Given the description of an element on the screen output the (x, y) to click on. 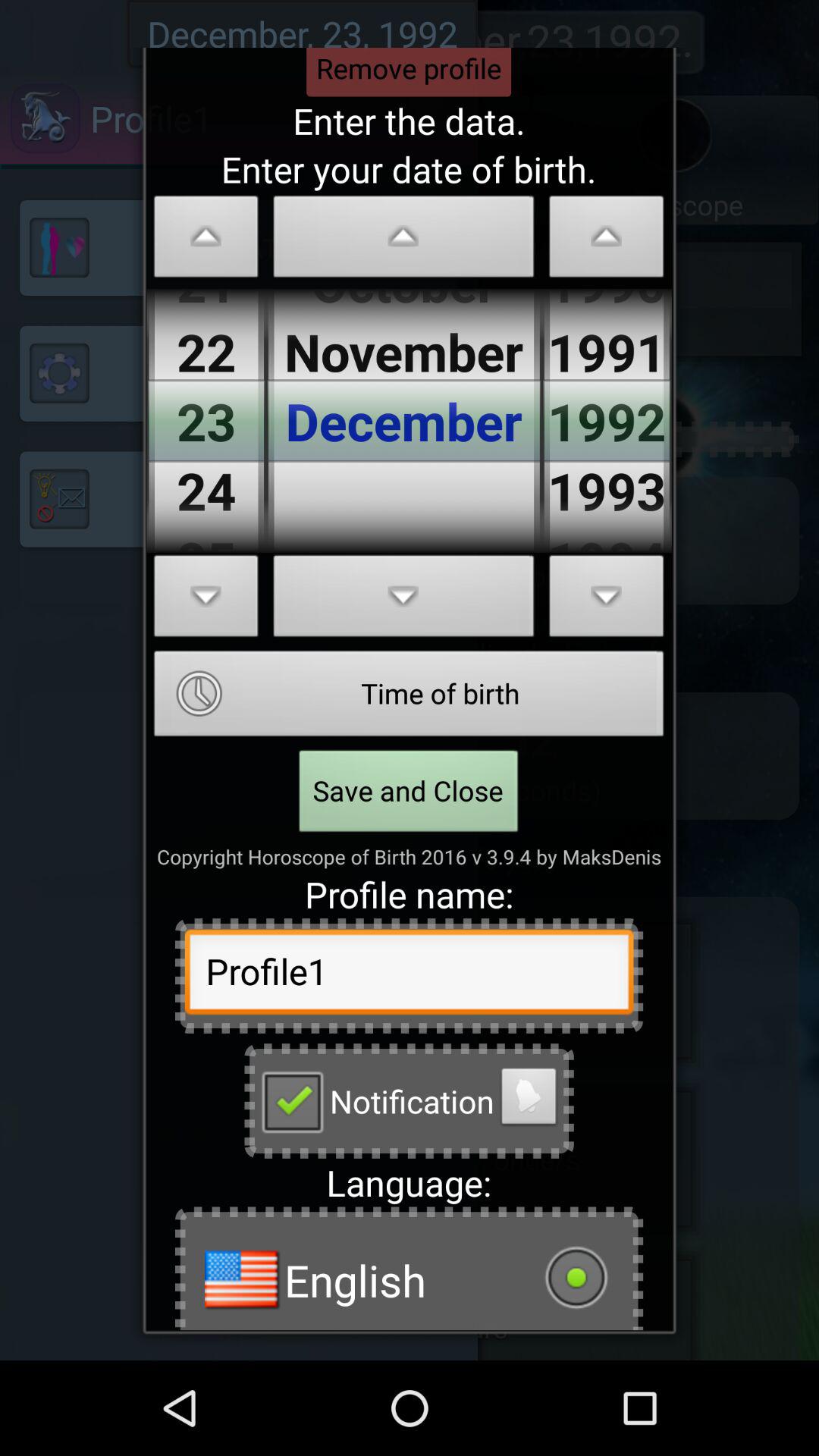
alarm (529, 1100)
